Given the description of an element on the screen output the (x, y) to click on. 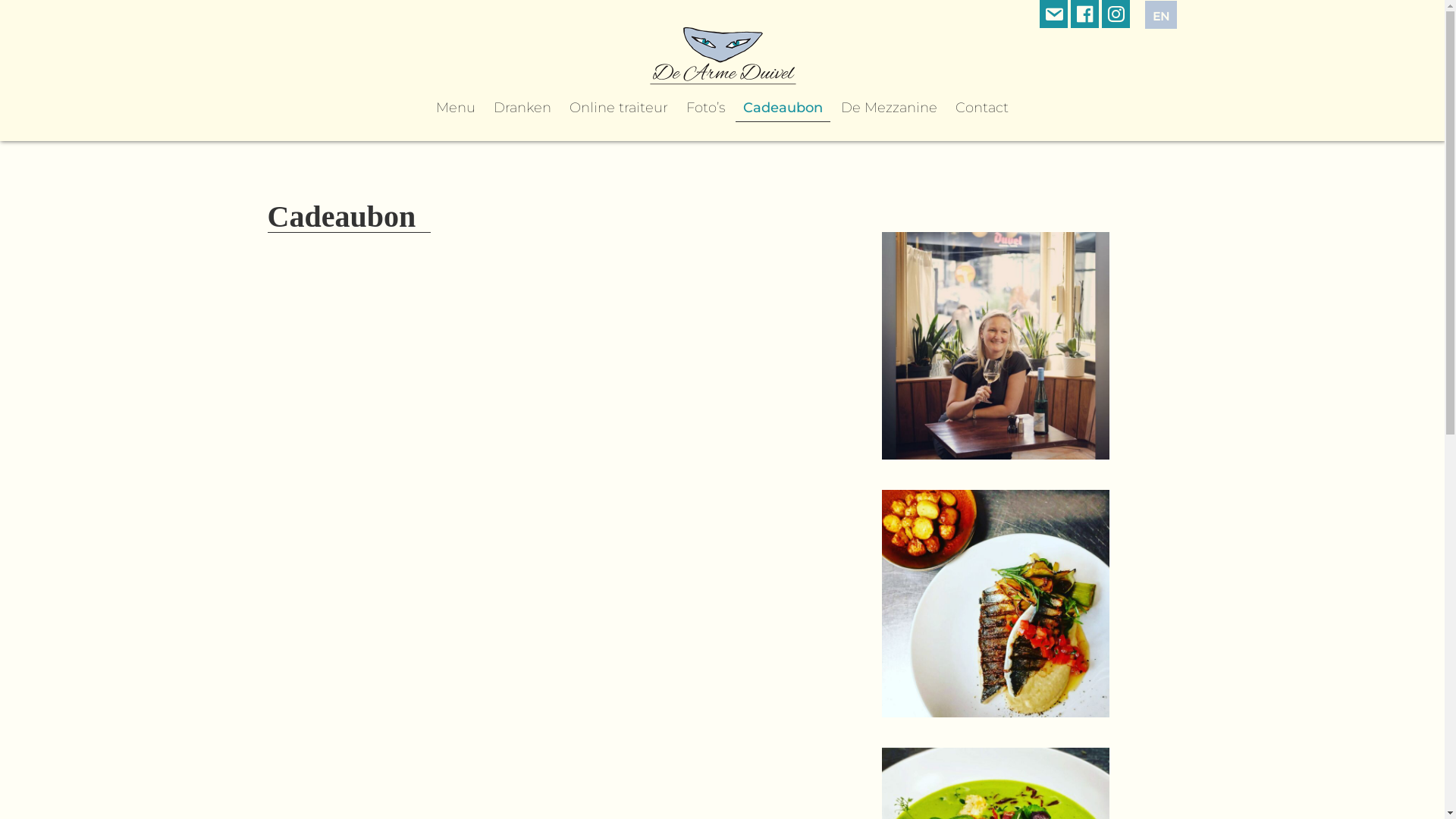
Menu Element type: text (455, 107)
Dranken Element type: text (522, 107)
Cadeaubon Element type: text (782, 108)
Contact Element type: text (981, 107)
De Mezzanine Element type: text (888, 107)
EN Element type: text (1160, 14)
Online traiteur Element type: text (618, 107)
